Given the description of an element on the screen output the (x, y) to click on. 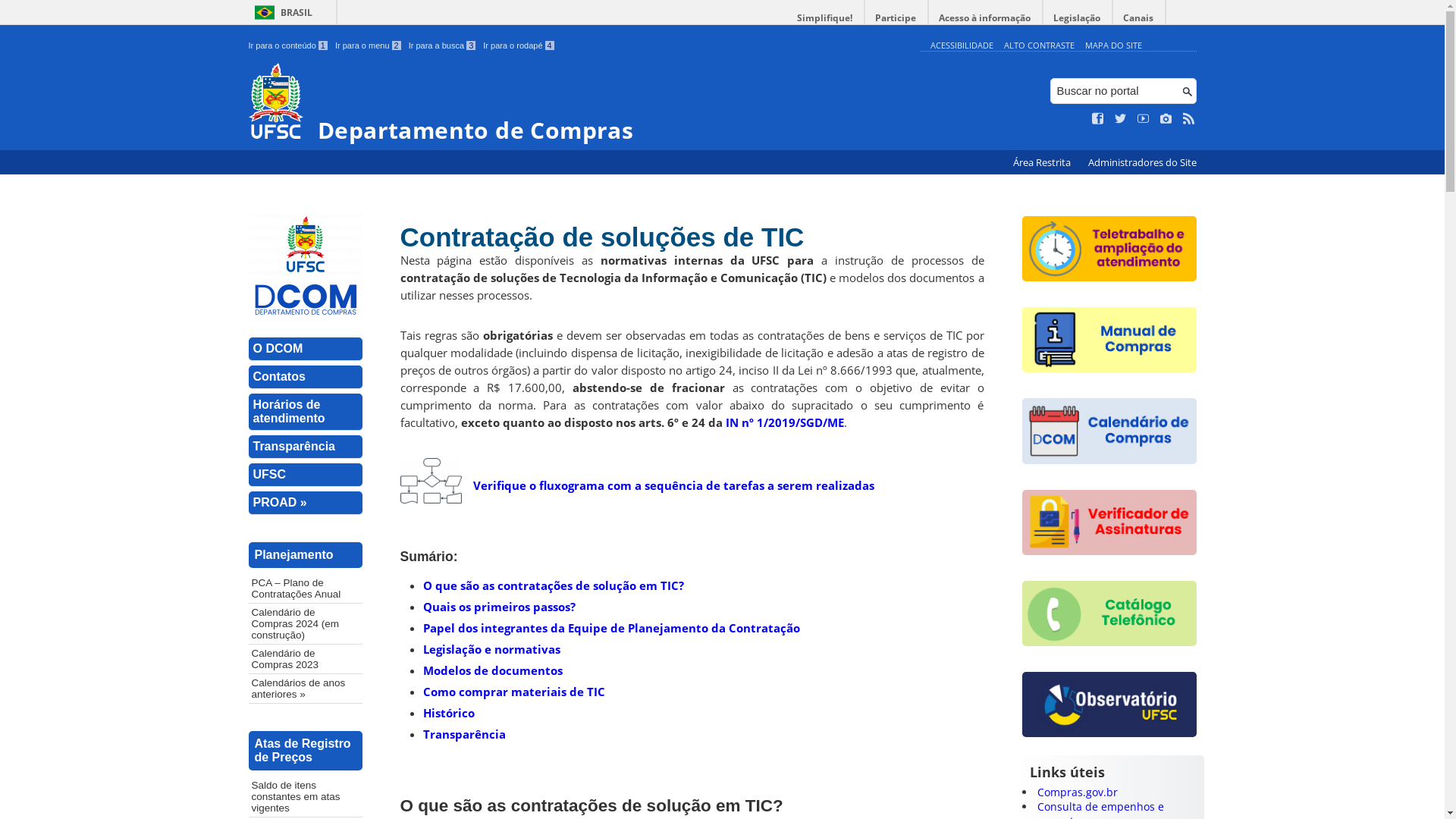
Administradores do Site Element type: text (1141, 162)
Quais os primeiros passos? Element type: text (499, 606)
UFSC Element type: text (305, 474)
ACESSIBILIDADE Element type: text (960, 44)
Modelos de documentos Element type: text (492, 669)
ALTO CONTRASTE Element type: text (1039, 44)
Saldo de itens constantes em atas vigentes Element type: text (305, 796)
Compras.gov.br Element type: text (1077, 791)
Veja no Instagram Element type: hover (1166, 118)
Curta no Facebook Element type: hover (1098, 118)
Siga no Twitter Element type: hover (1120, 118)
Participe Element type: text (895, 18)
Simplifique! Element type: text (825, 18)
MAPA DO SITE Element type: text (1112, 44)
BRASIL Element type: text (280, 12)
Ir para o menu 2 Element type: text (368, 45)
Canais Element type: text (1138, 18)
Departamento de Compras Element type: text (580, 102)
Ir para a busca 3 Element type: text (442, 45)
Contatos Element type: text (305, 377)
O DCOM Element type: text (305, 348)
Como comprar materiais de TIC Element type: text (514, 691)
